Given the description of an element on the screen output the (x, y) to click on. 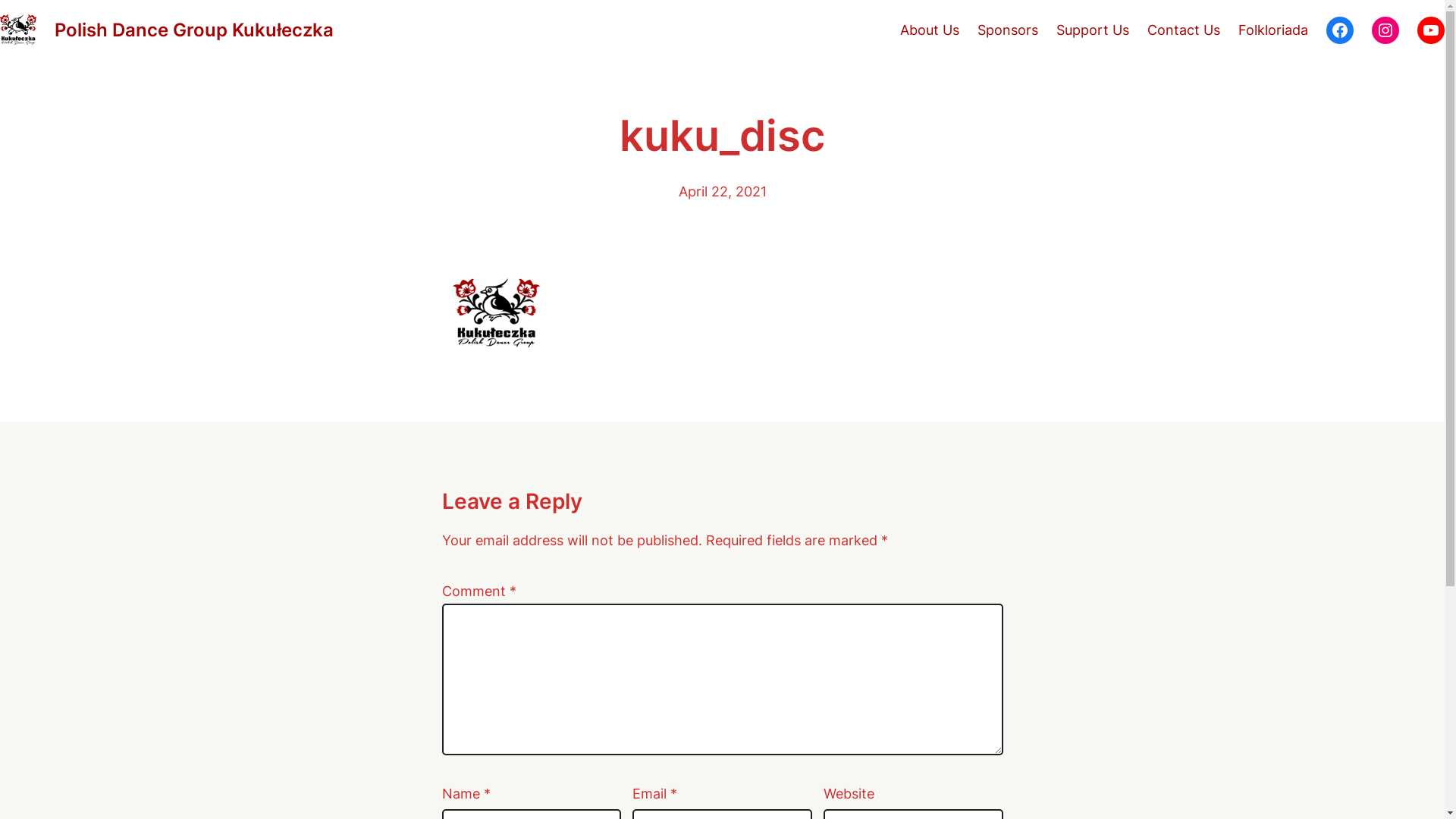
Contact Us Element type: text (1183, 30)
Folkloriada Element type: text (1273, 30)
Sponsors Element type: text (1007, 30)
Support Us Element type: text (1092, 30)
About Us Element type: text (929, 30)
Instagram Element type: text (1385, 29)
YouTube Element type: text (1430, 29)
Facebook Element type: text (1339, 29)
